Given the description of an element on the screen output the (x, y) to click on. 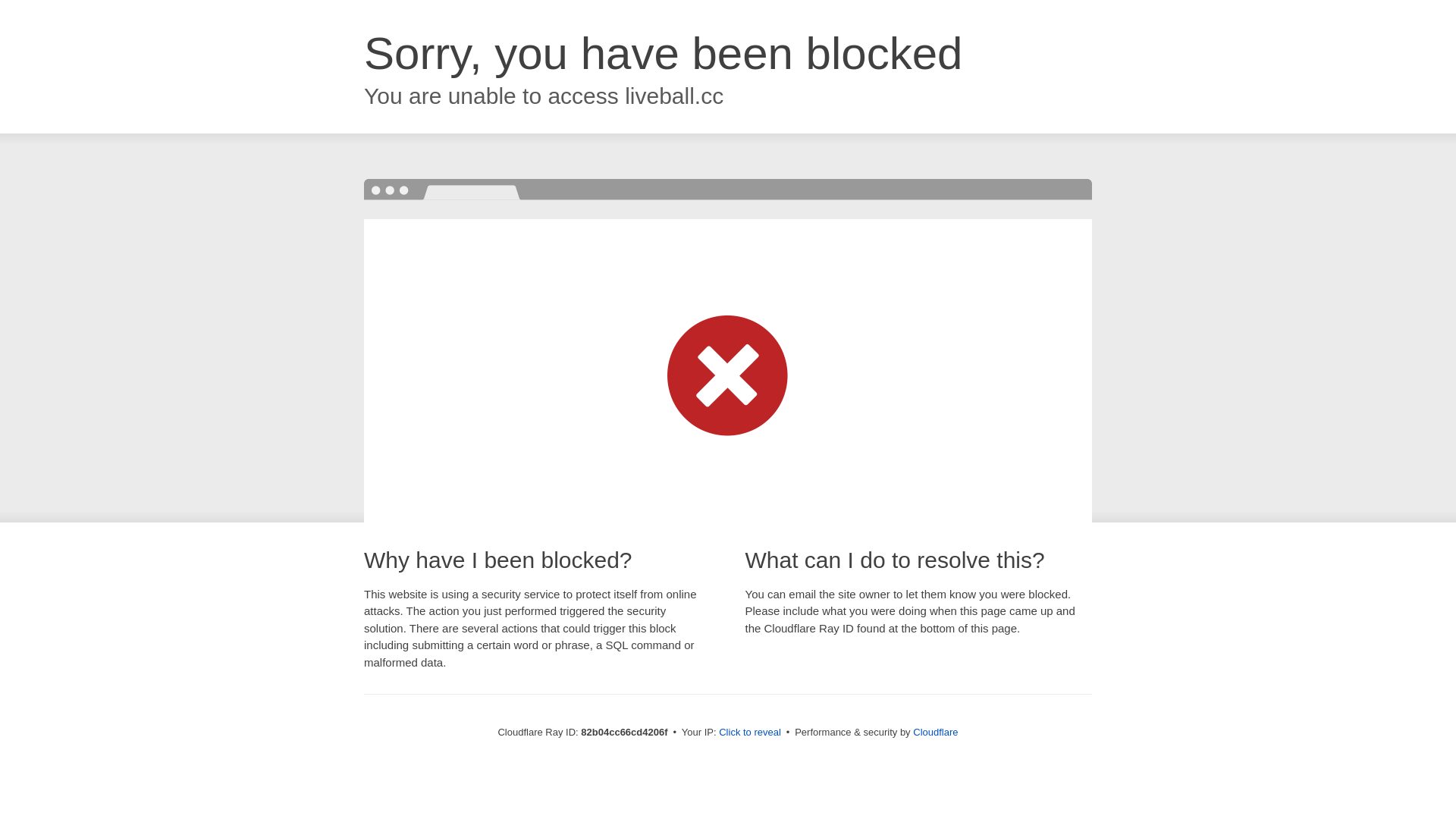
Cloudflare Element type: text (935, 731)
Click to reveal Element type: text (749, 732)
